Given the description of an element on the screen output the (x, y) to click on. 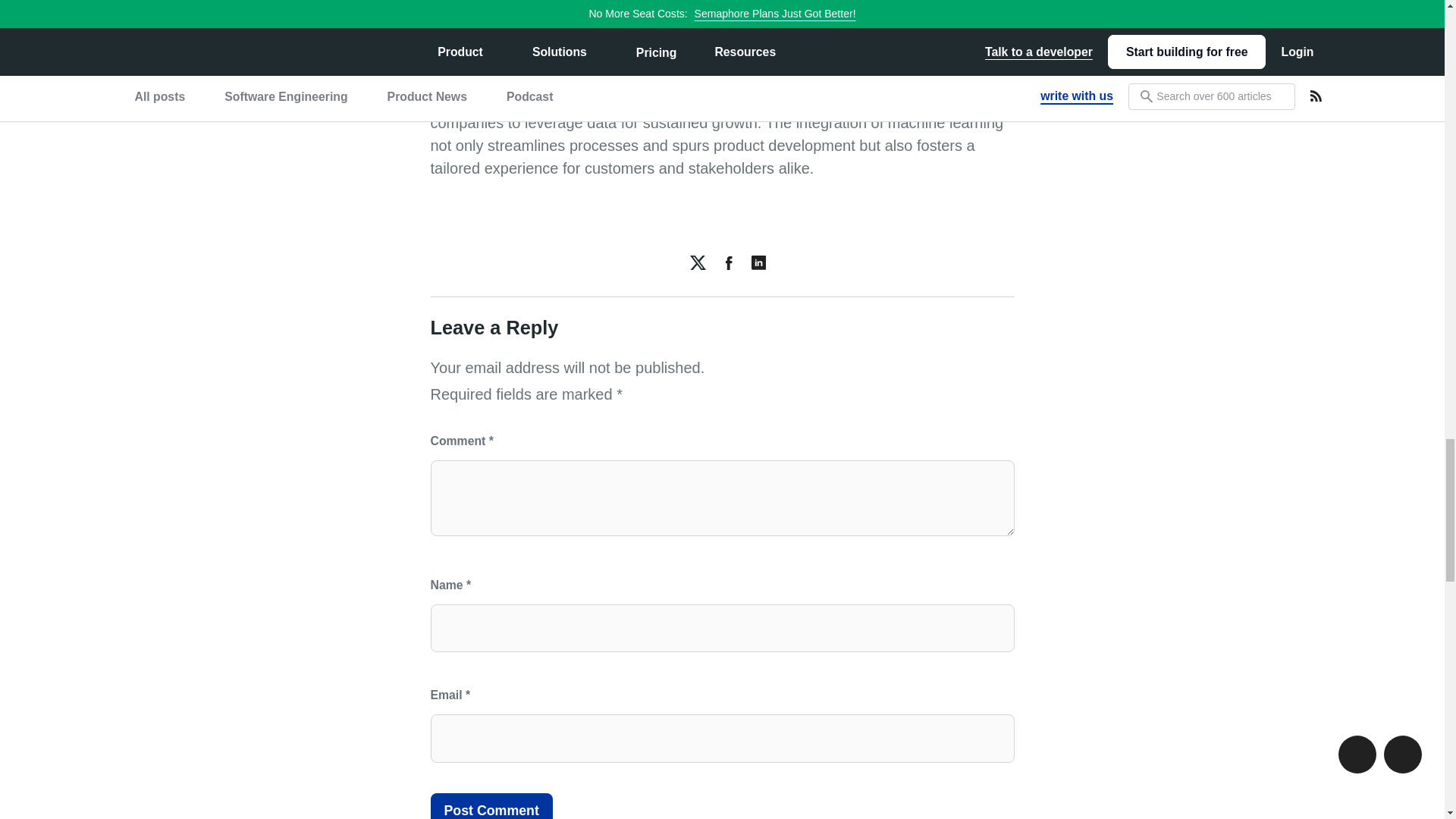
Post Comment (491, 806)
